Given the description of an element on the screen output the (x, y) to click on. 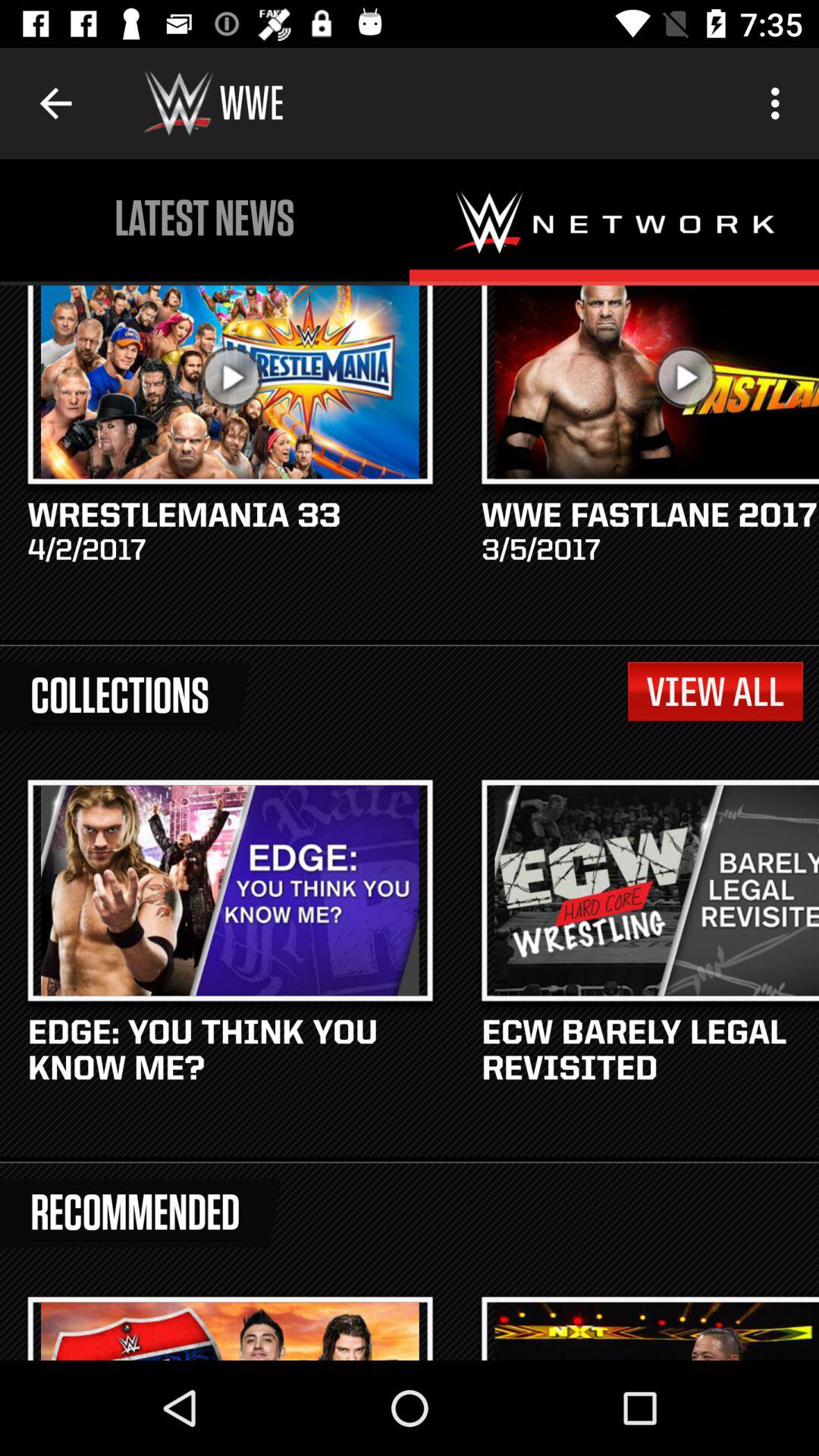
turn on the latest news icon (204, 218)
